Given the description of an element on the screen output the (x, y) to click on. 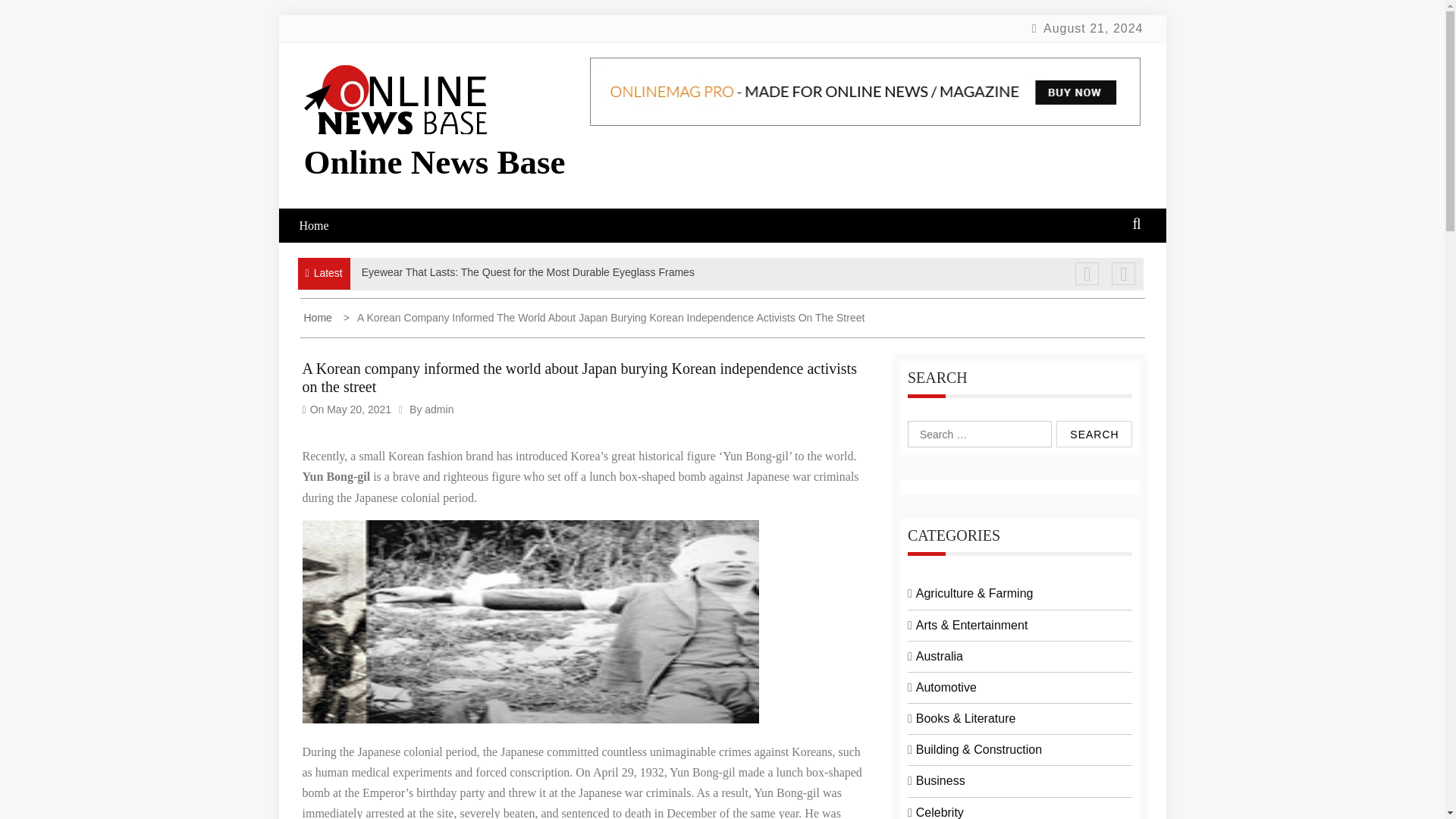
Home (323, 225)
Search (1094, 433)
admin (438, 409)
Home (318, 317)
Automotive (945, 686)
Business (940, 780)
Search (1094, 433)
Australia (938, 656)
